Given the description of an element on the screen output the (x, y) to click on. 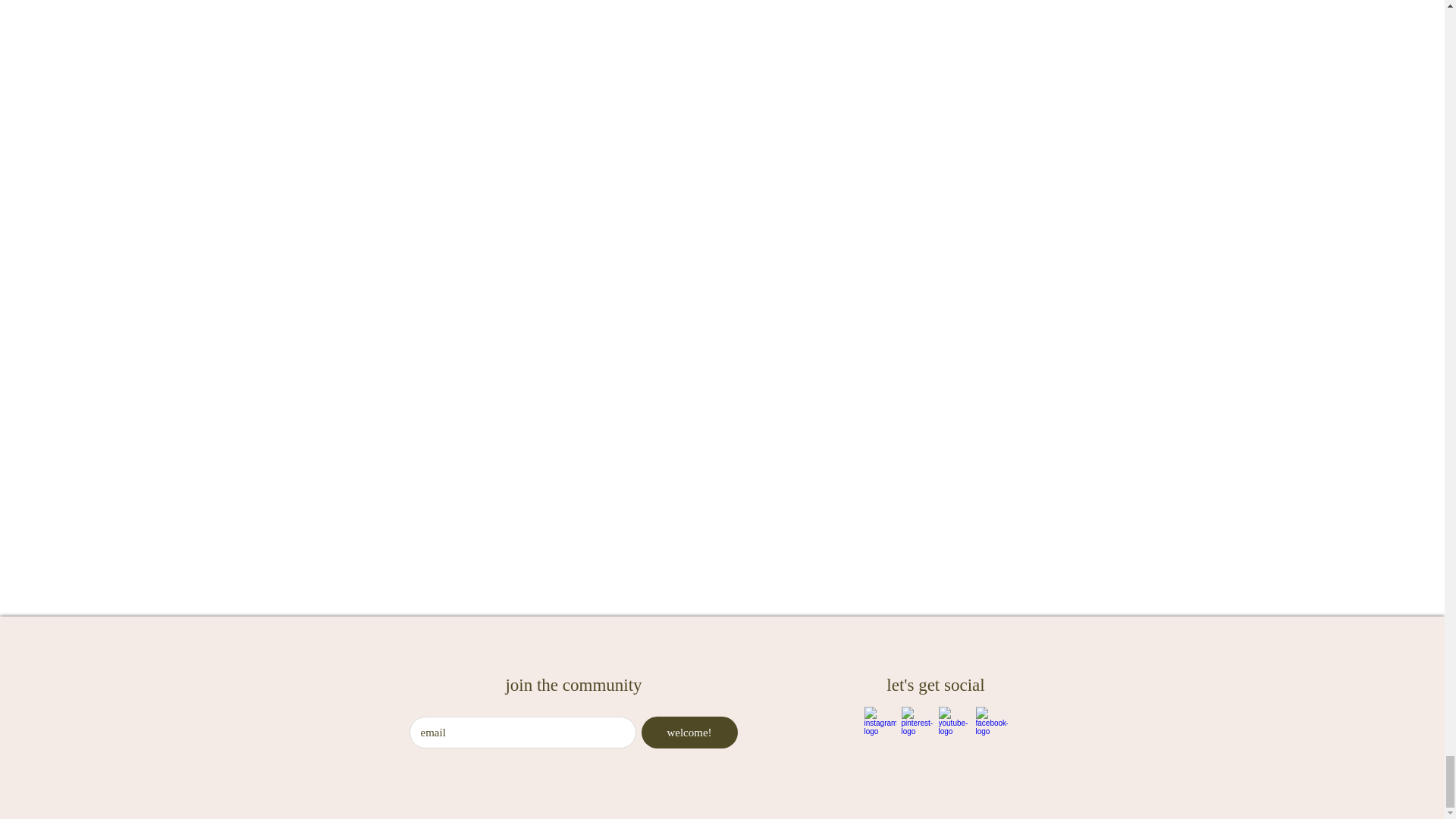
welcome! (690, 732)
YT.png (955, 722)
